Given the description of an element on the screen output the (x, y) to click on. 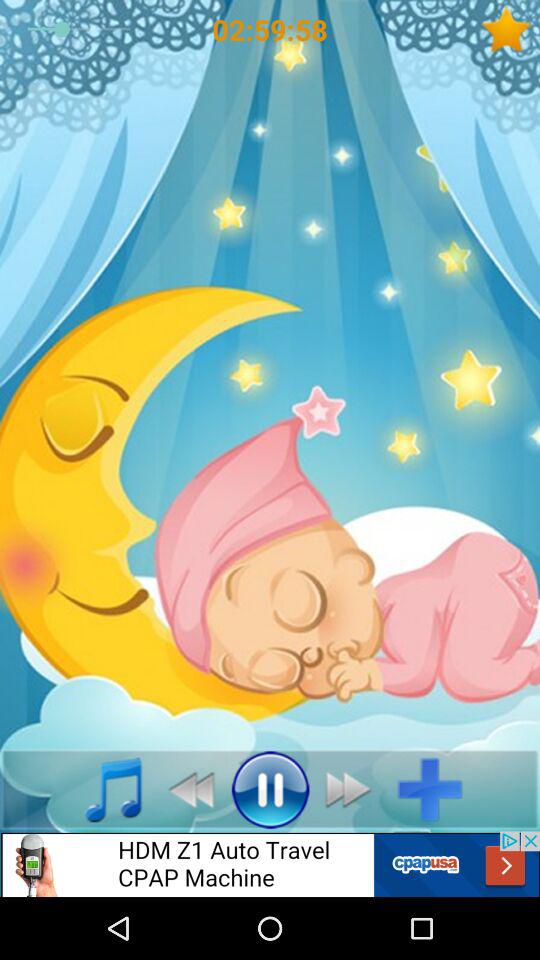
add track option (438, 789)
